Given the description of an element on the screen output the (x, y) to click on. 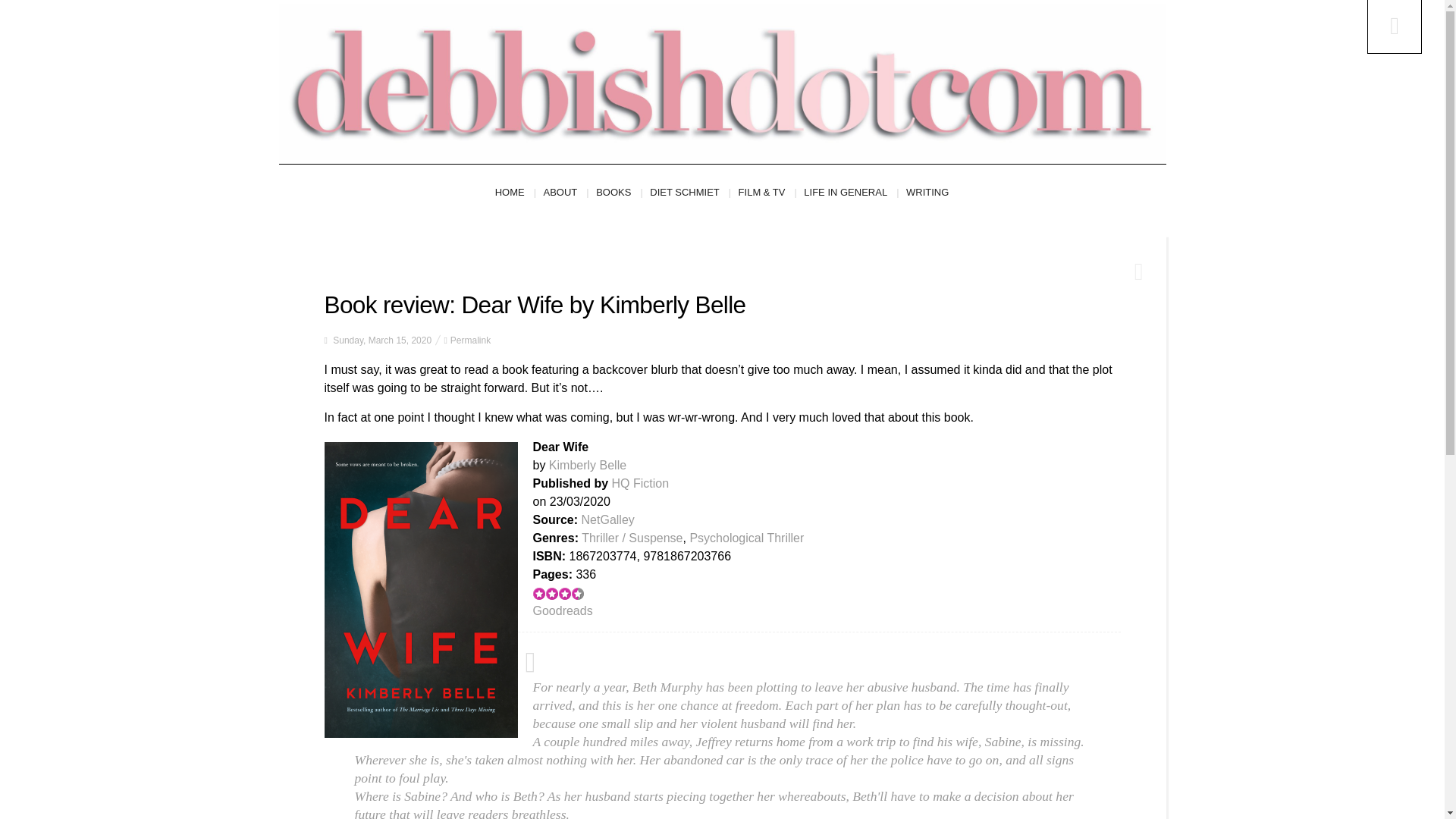
Psychological Thriller (745, 537)
Permalink Book review: Dear Wife by Kimberly Belle (469, 339)
LIFE IN GENERAL (850, 192)
DIET SCHMIET (689, 192)
BOOKS (619, 192)
Goodreads (562, 610)
NetGalley (607, 519)
HQ Fiction (640, 482)
Kimberly Belle (587, 464)
